Given the description of an element on the screen output the (x, y) to click on. 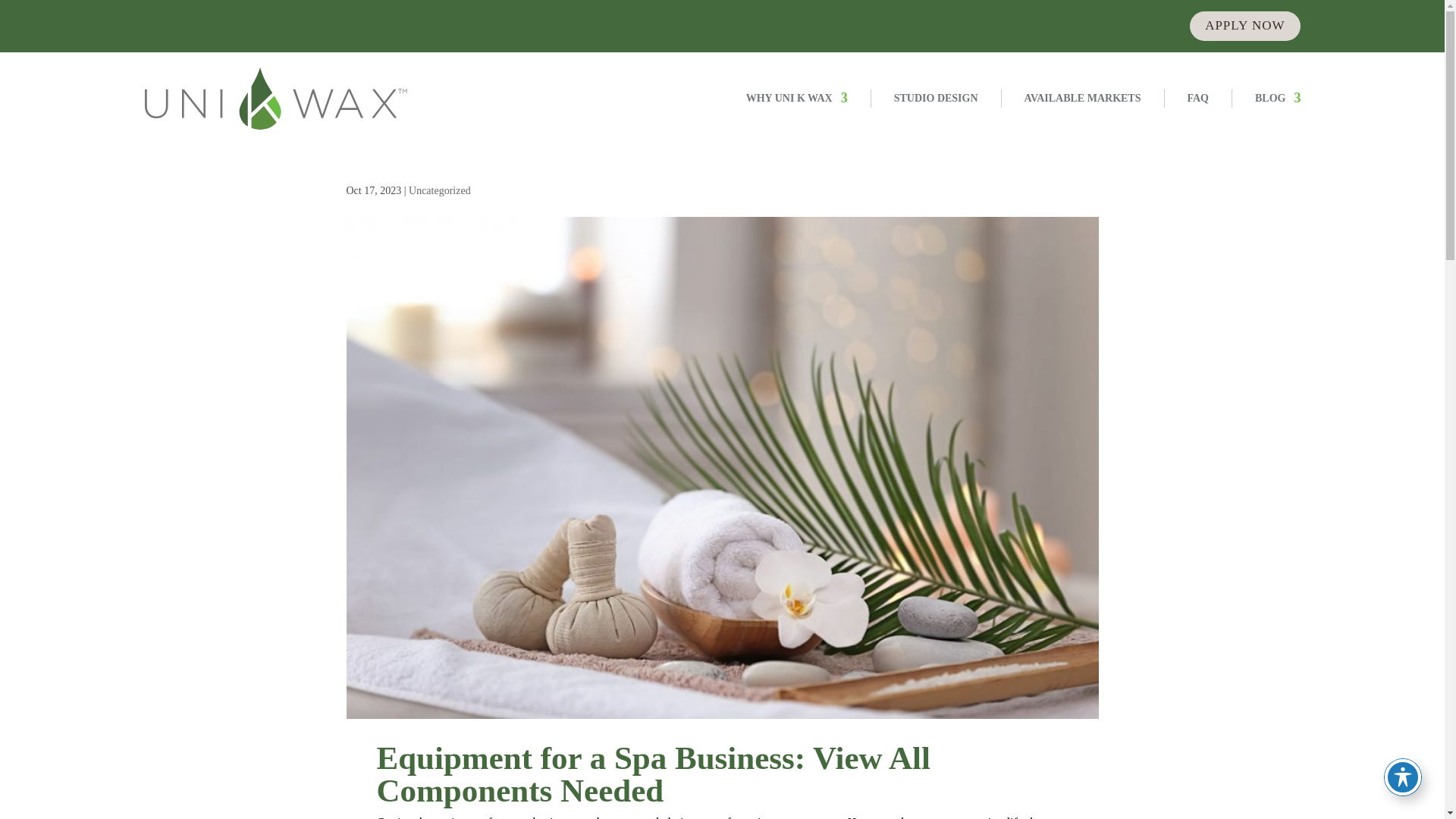
WHY UNI K WAX (796, 98)
Uncategorized (439, 190)
APPLY NOW (1244, 25)
STUDIO DESIGN (935, 98)
AVAILABLE MARKETS (1083, 98)
BLOG (1277, 98)
header-logo (275, 98)
FAQ (1198, 98)
